Given the description of an element on the screen output the (x, y) to click on. 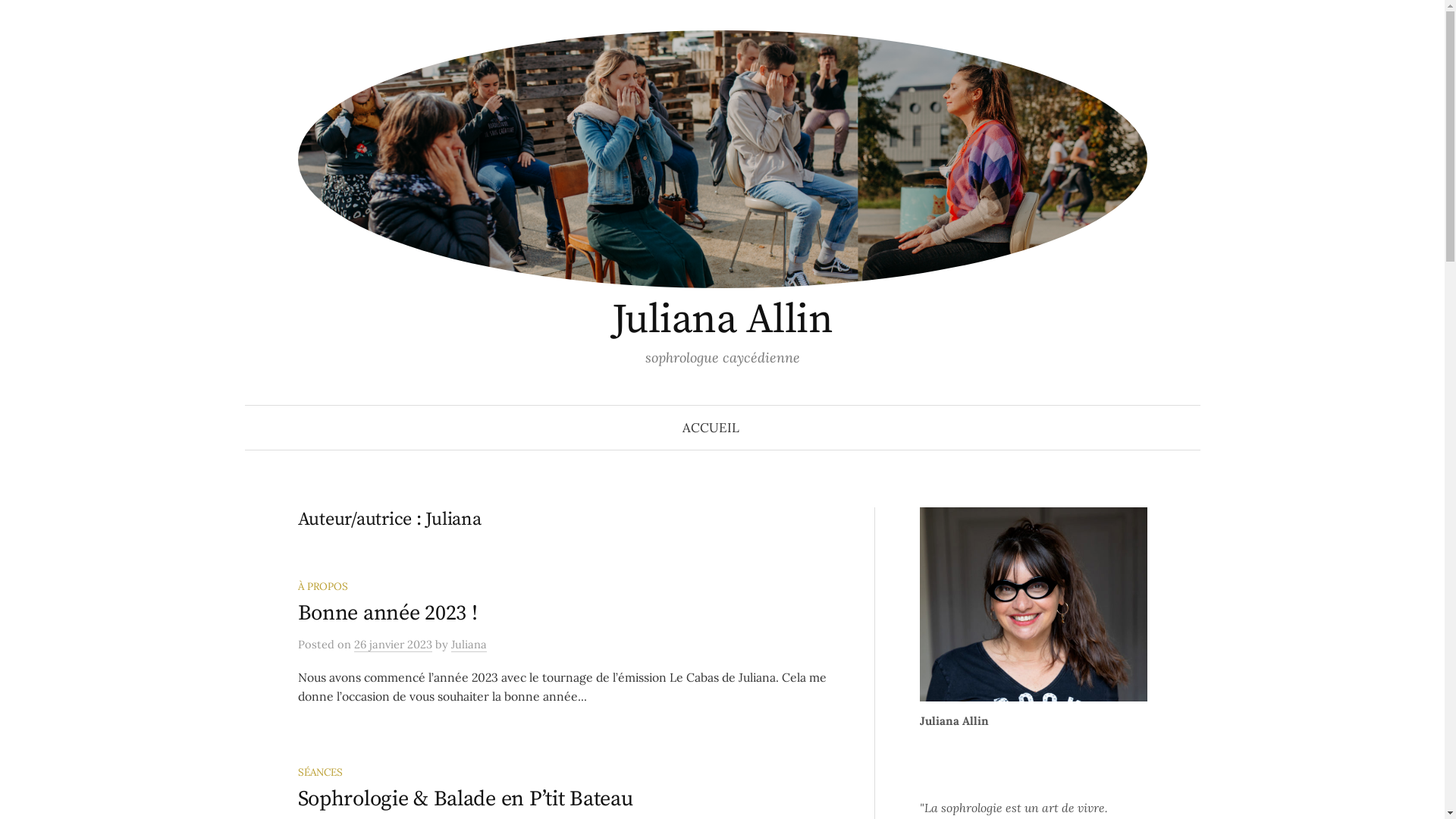
Juliana Allin Element type: text (721, 319)
Juliana Element type: text (468, 644)
26 janvier 2023 Element type: text (392, 644)
ACCUEIL Element type: text (710, 427)
